Given the description of an element on the screen output the (x, y) to click on. 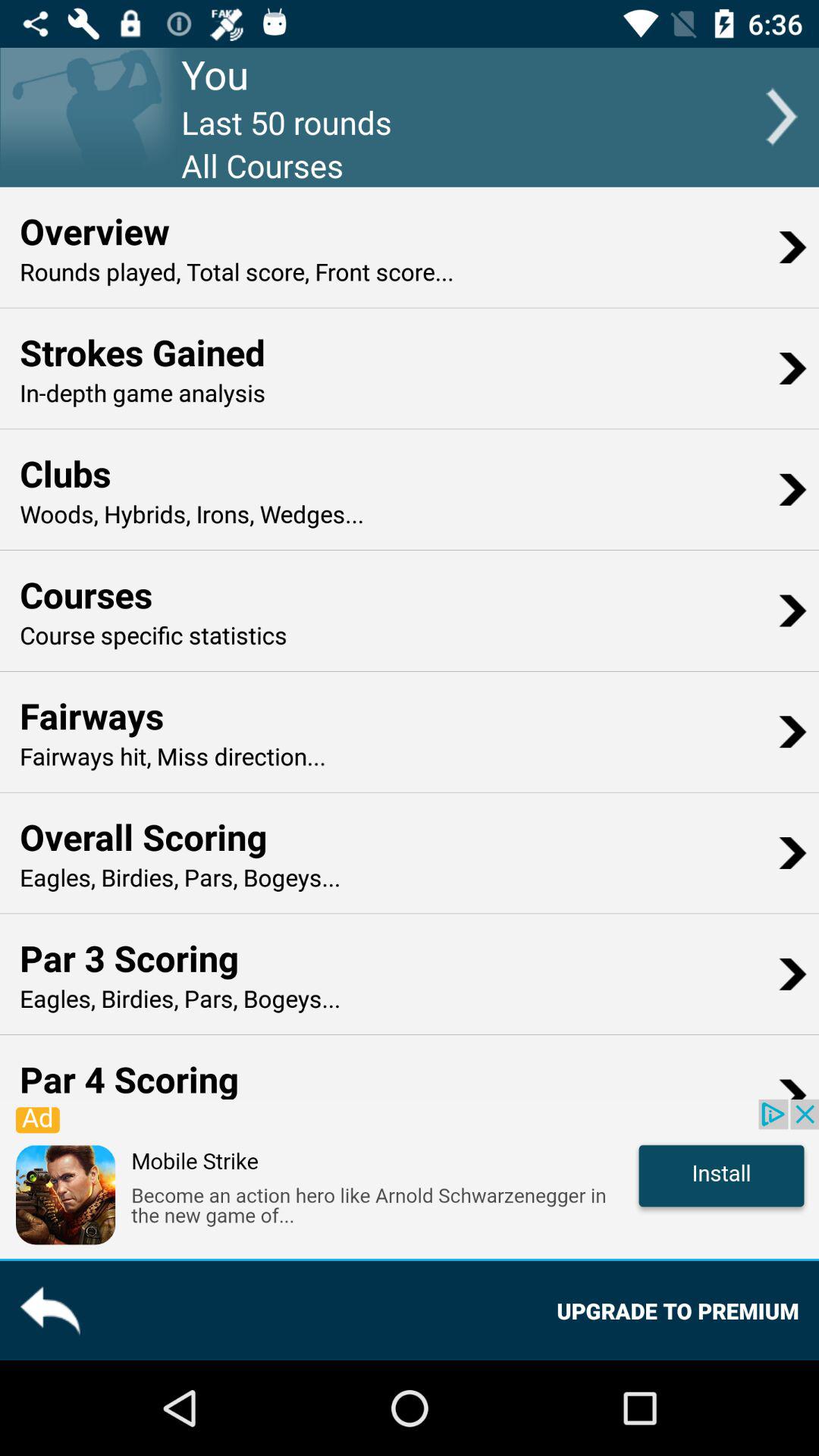
app advertisement option (409, 1178)
